Given the description of an element on the screen output the (x, y) to click on. 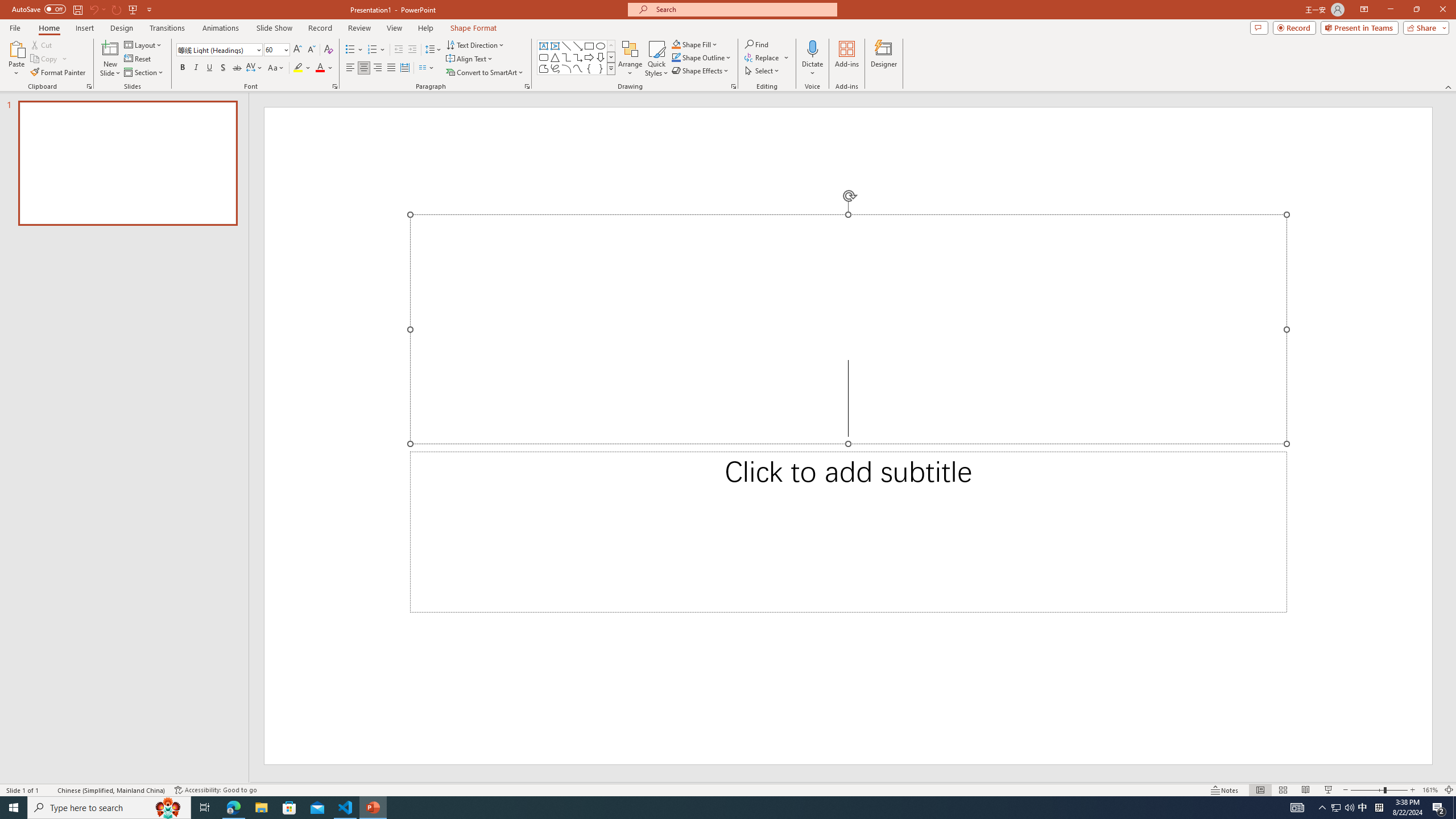
Shape Fill Orange, Accent 2 (675, 44)
